Given the description of an element on the screen output the (x, y) to click on. 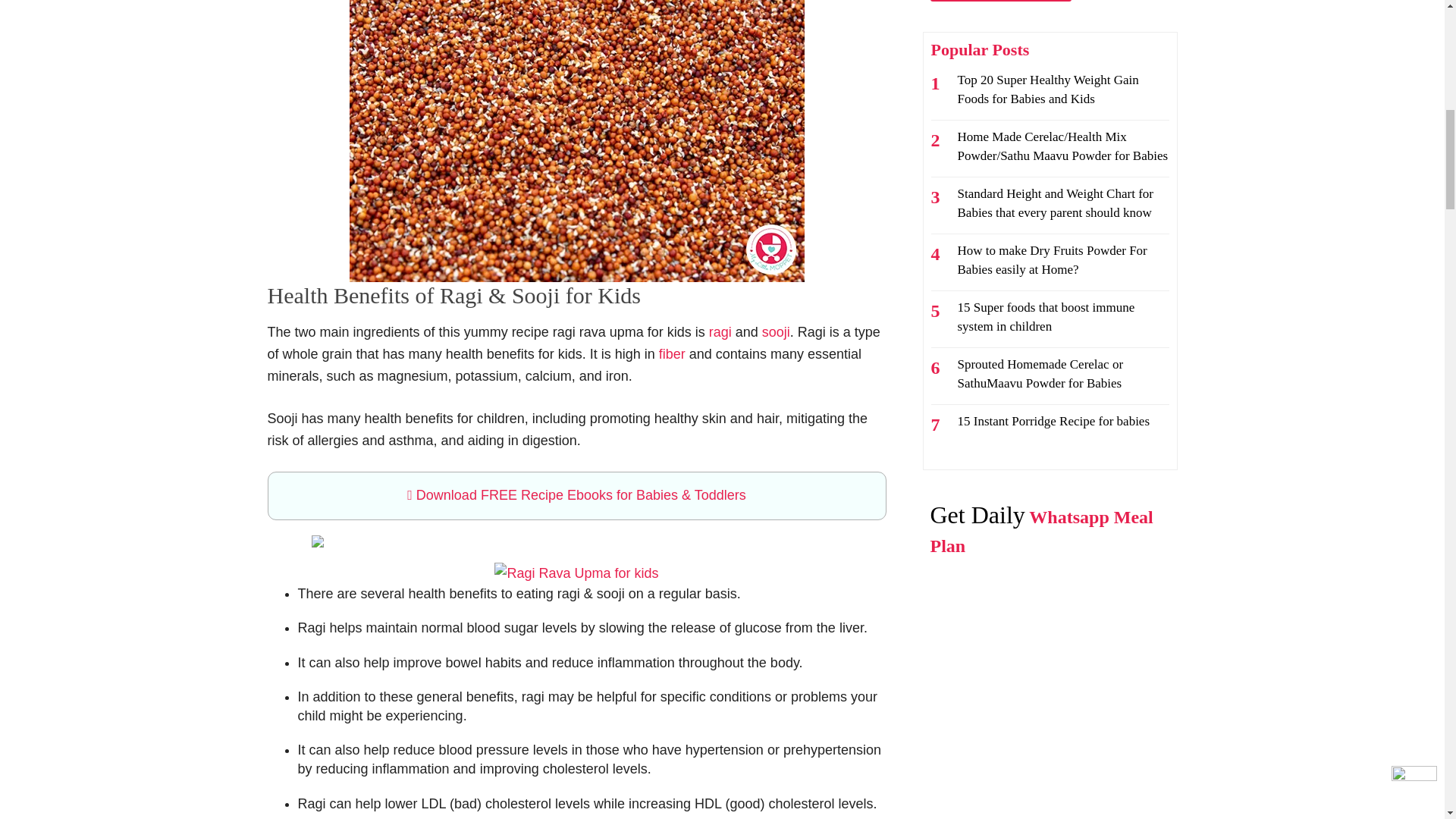
15 Super foods that boost immune system in children (1045, 316)
How to make Dry Fruits Powder For Babies easily at Home? (1051, 259)
Sprouted Homemade Cerelac or SathuMaavu Powder for Babies (1039, 373)
Top 20 Super Healthy Weight Gain Foods for Babies and Kids (1047, 89)
